Given the description of an element on the screen output the (x, y) to click on. 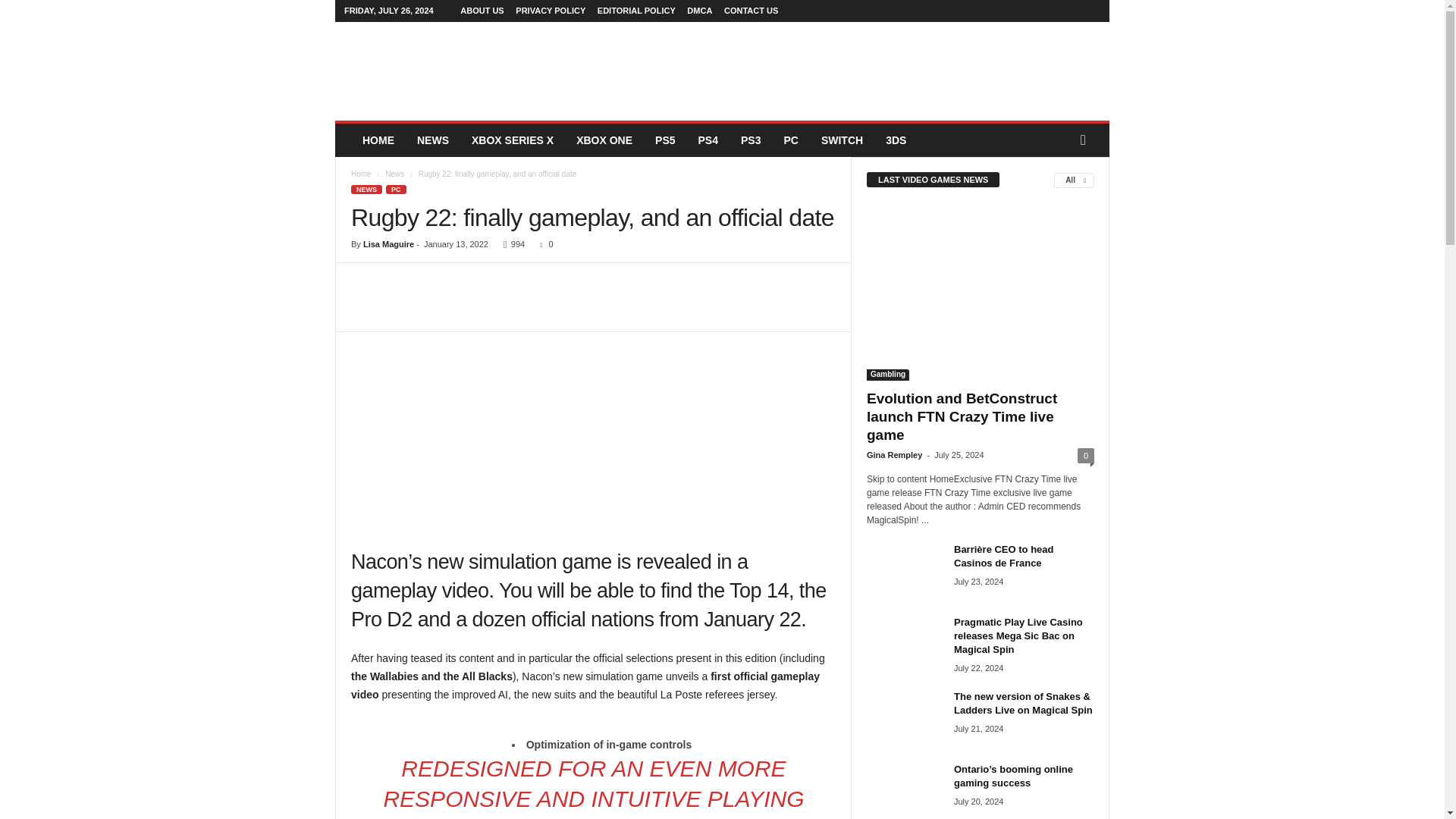
CONTACT US (750, 10)
ABOUT US (481, 10)
EDITORIAL POLICY (635, 10)
VideoGamesRepublic.com (437, 70)
HOME (378, 140)
PRIVACY POLICY (550, 10)
NEWS (433, 140)
DMCA (699, 10)
